Given the description of an element on the screen output the (x, y) to click on. 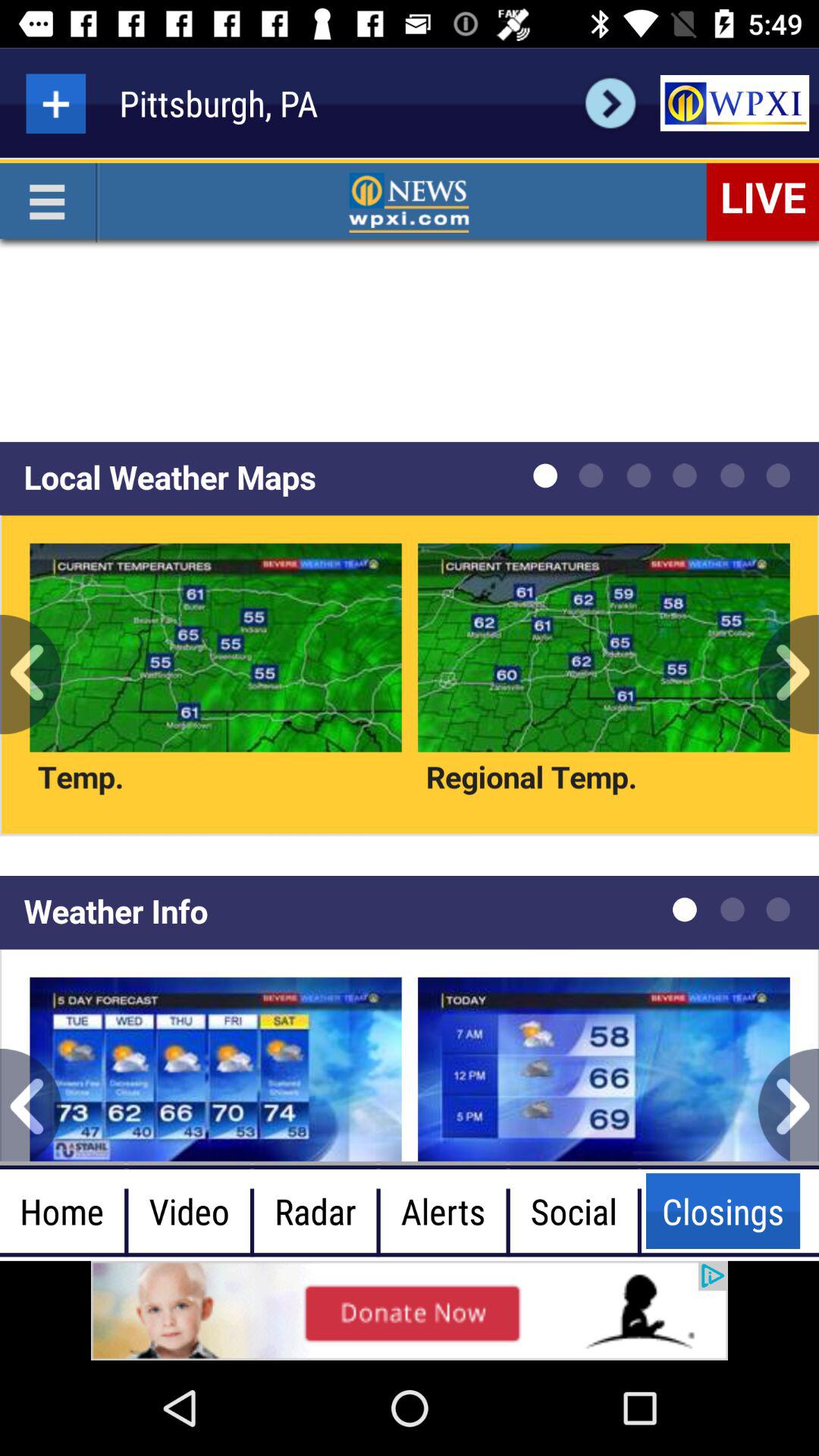
web advertisement (409, 1310)
